Given the description of an element on the screen output the (x, y) to click on. 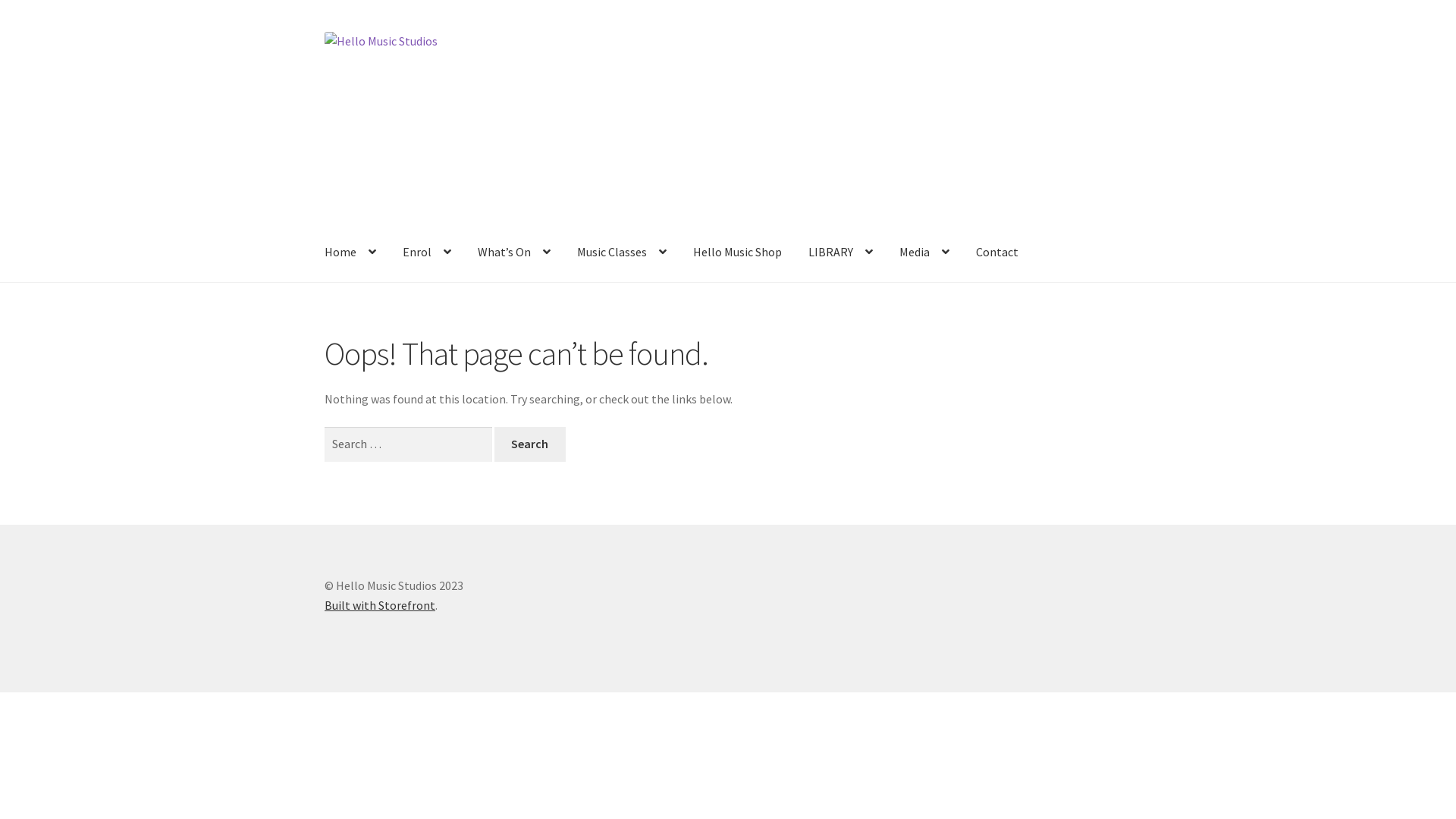
Built with Storefront Element type: text (379, 604)
Hello Music Shop Element type: text (736, 252)
LIBRARY Element type: text (840, 252)
Music Classes Element type: text (621, 252)
Enrol Element type: text (426, 252)
Home Element type: text (350, 252)
Search Element type: text (529, 443)
Contact Element type: text (996, 252)
Media Element type: text (924, 252)
